Given the description of an element on the screen output the (x, y) to click on. 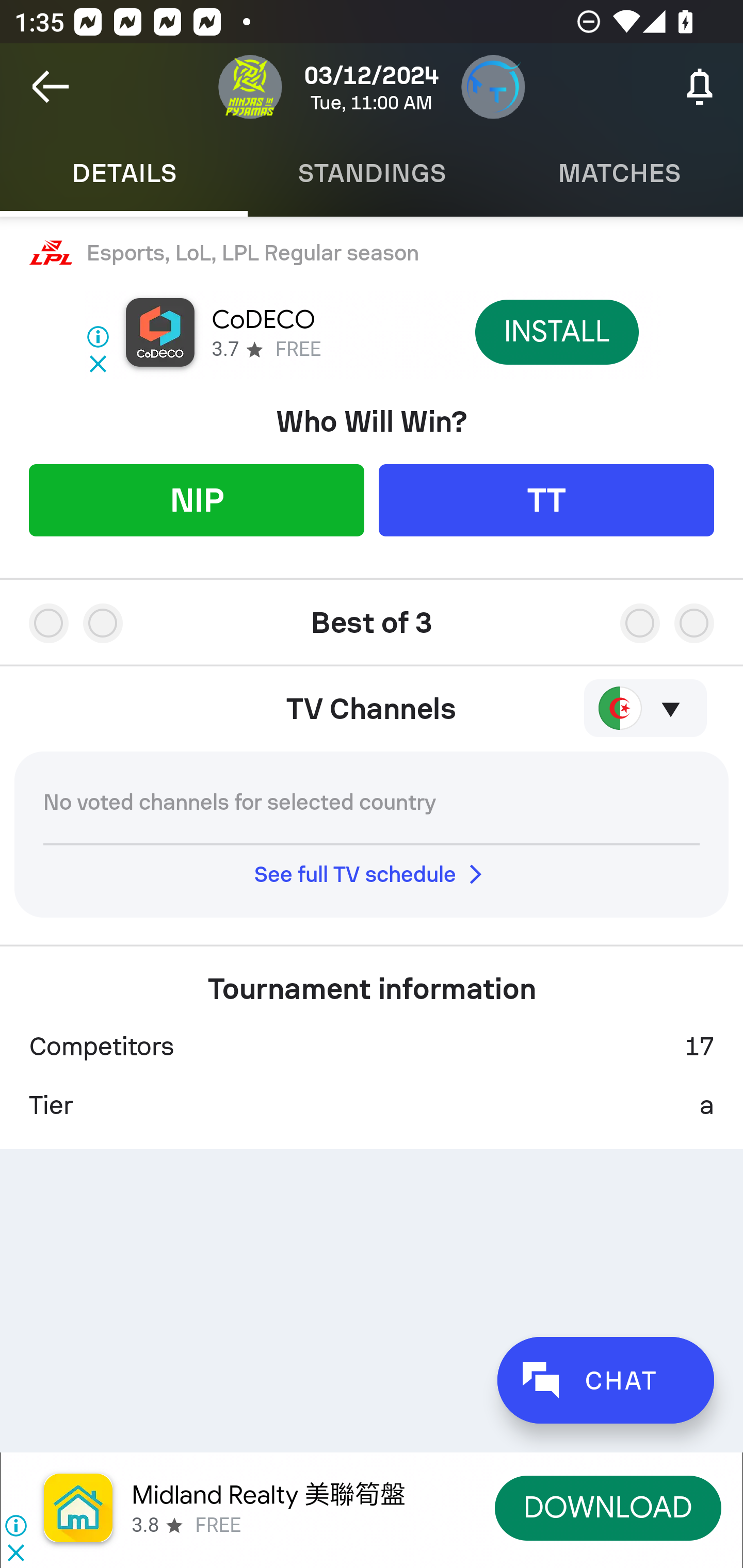
Navigate up (50, 86)
Standings STANDINGS (371, 173)
Matches MATCHES (619, 173)
Esports, LoL, LPL Regular season (371, 252)
INSTALL (556, 332)
CoDECO (263, 319)
NIP (196, 500)
TT (546, 500)
Best of 3 (371, 616)
See full TV schedule (371, 874)
CHAT (605, 1380)
DOWNLOAD (607, 1507)
Midland Realty 美聯筍盤 (268, 1494)
